Given the description of an element on the screen output the (x, y) to click on. 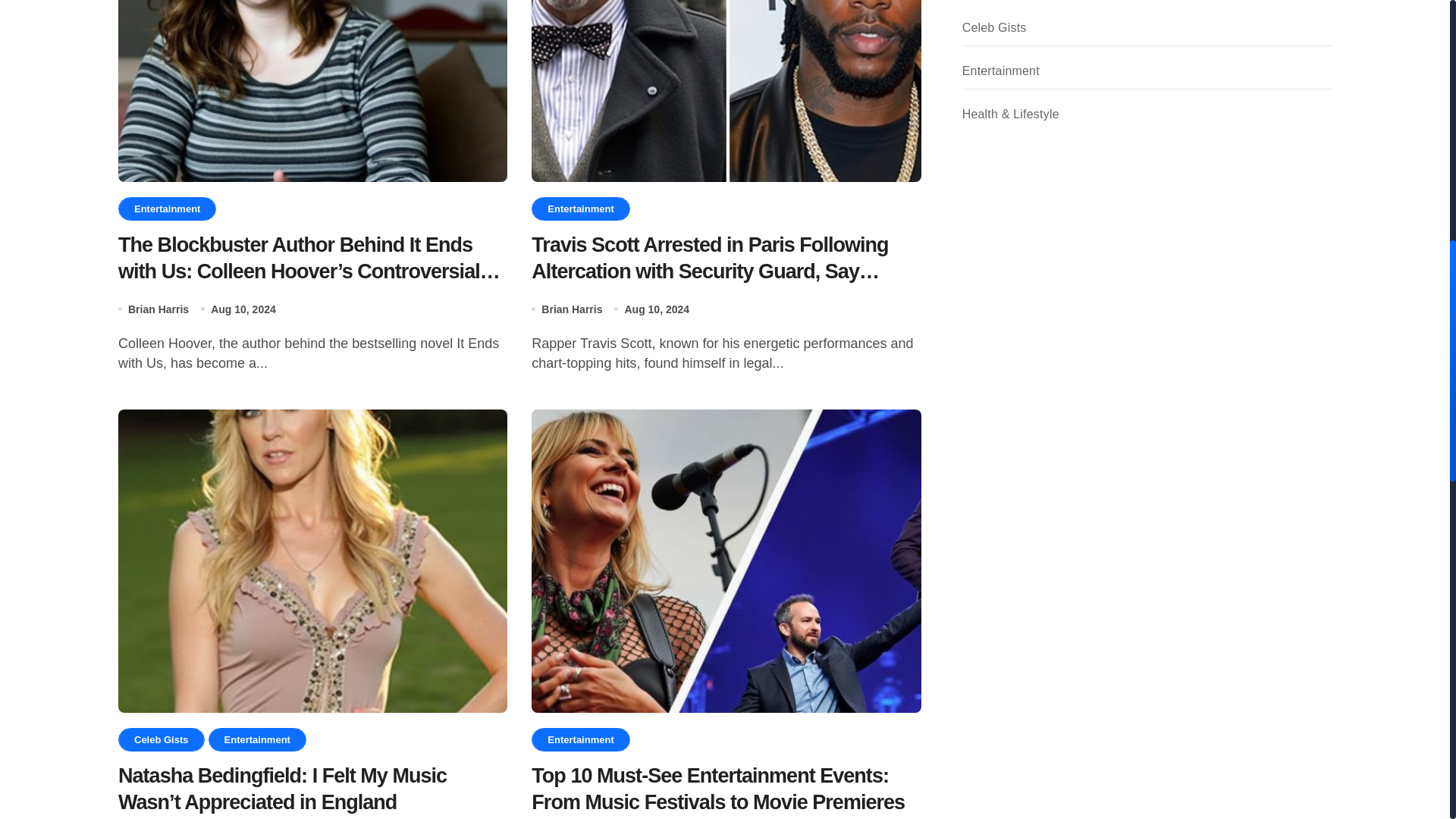
Entertainment (256, 739)
Aug 10, 2024 (243, 309)
Entertainment (579, 739)
Aug 10, 2024 (656, 309)
Brian Harris (571, 309)
Entertainment (579, 208)
Celeb Gists (161, 739)
Entertainment (166, 208)
Brian Harris (158, 309)
